Given the description of an element on the screen output the (x, y) to click on. 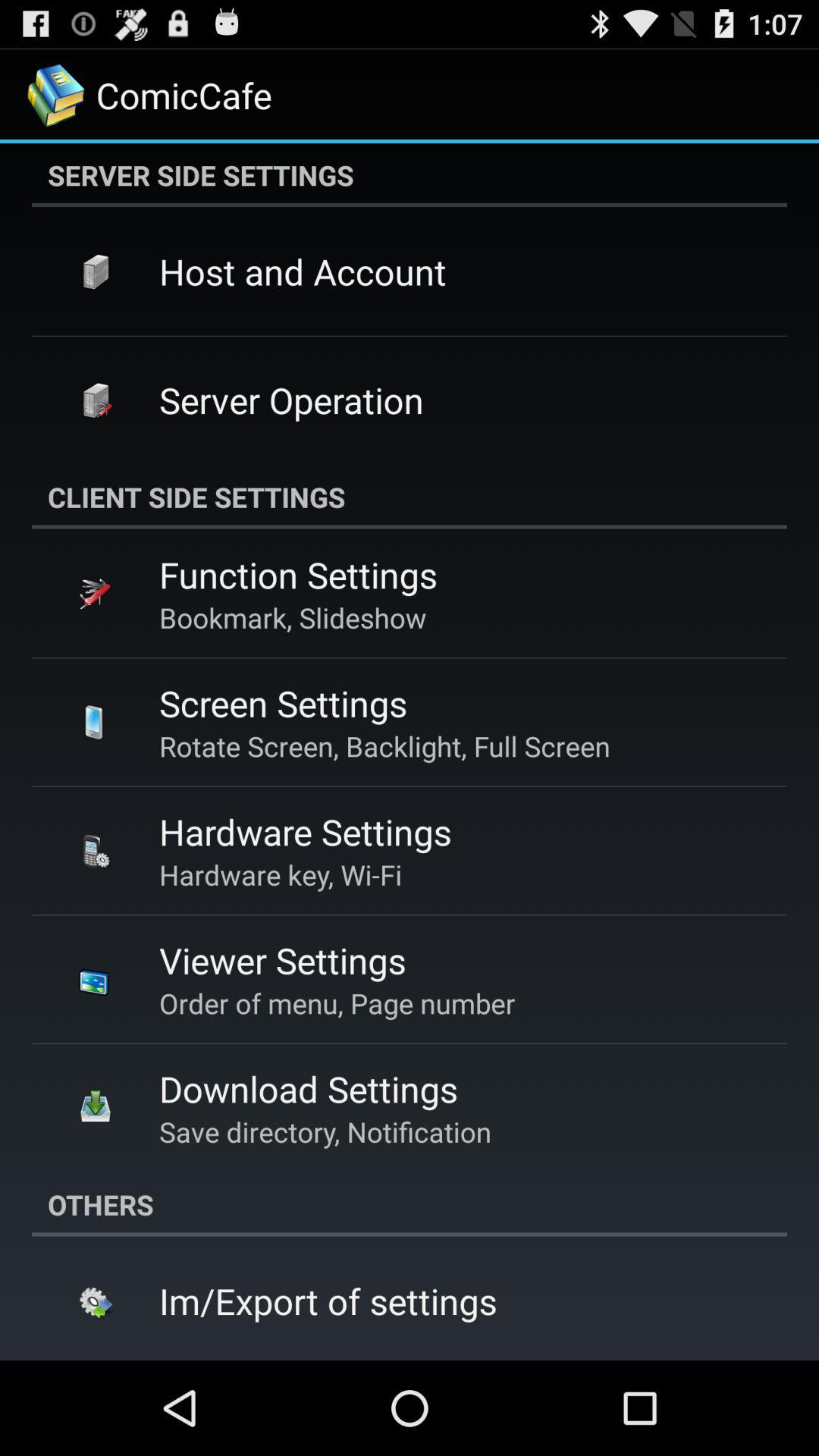
launch the app below client side settings app (298, 574)
